Given the description of an element on the screen output the (x, y) to click on. 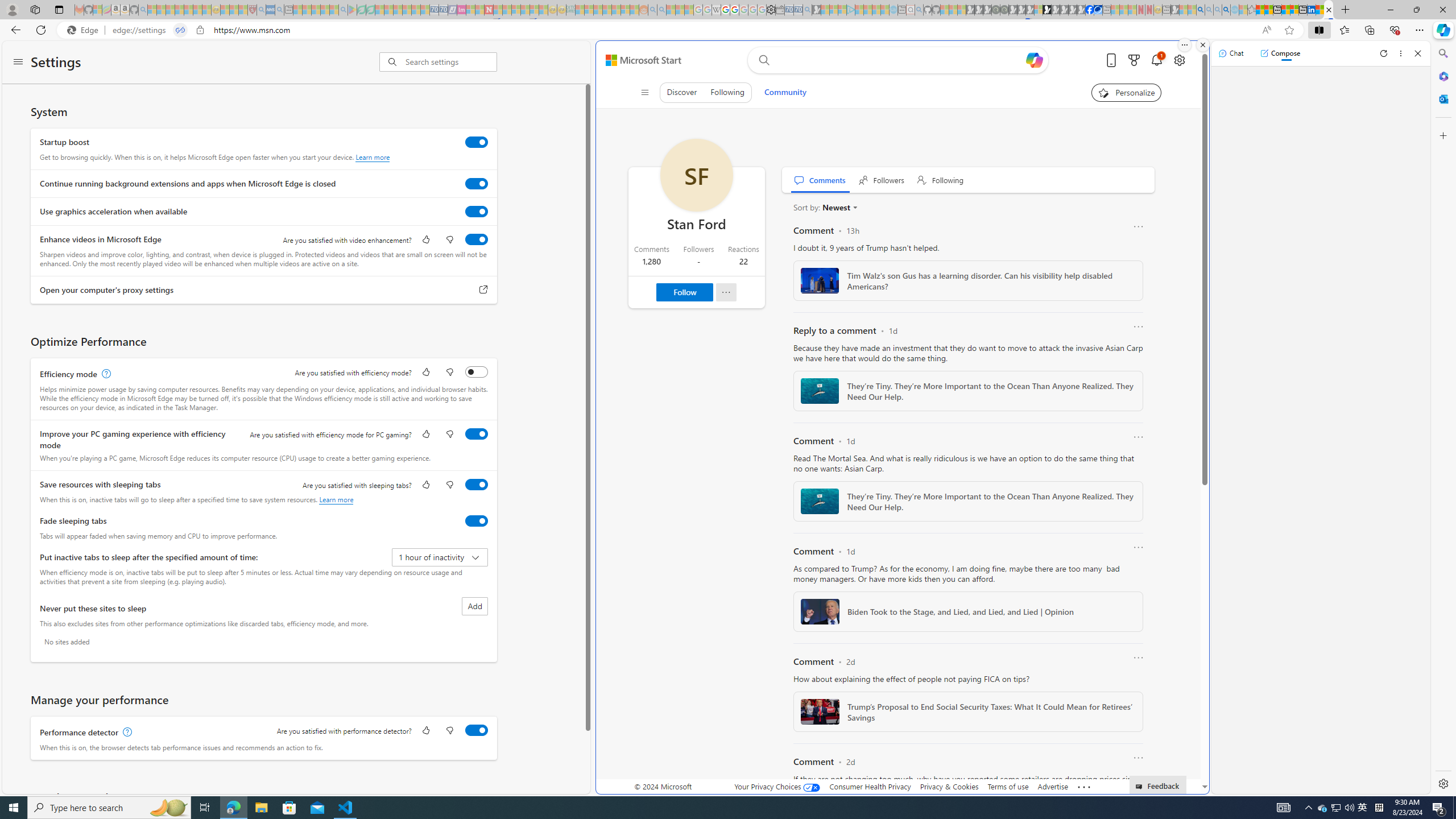
Startup boost (476, 142)
